Given the description of an element on the screen output the (x, y) to click on. 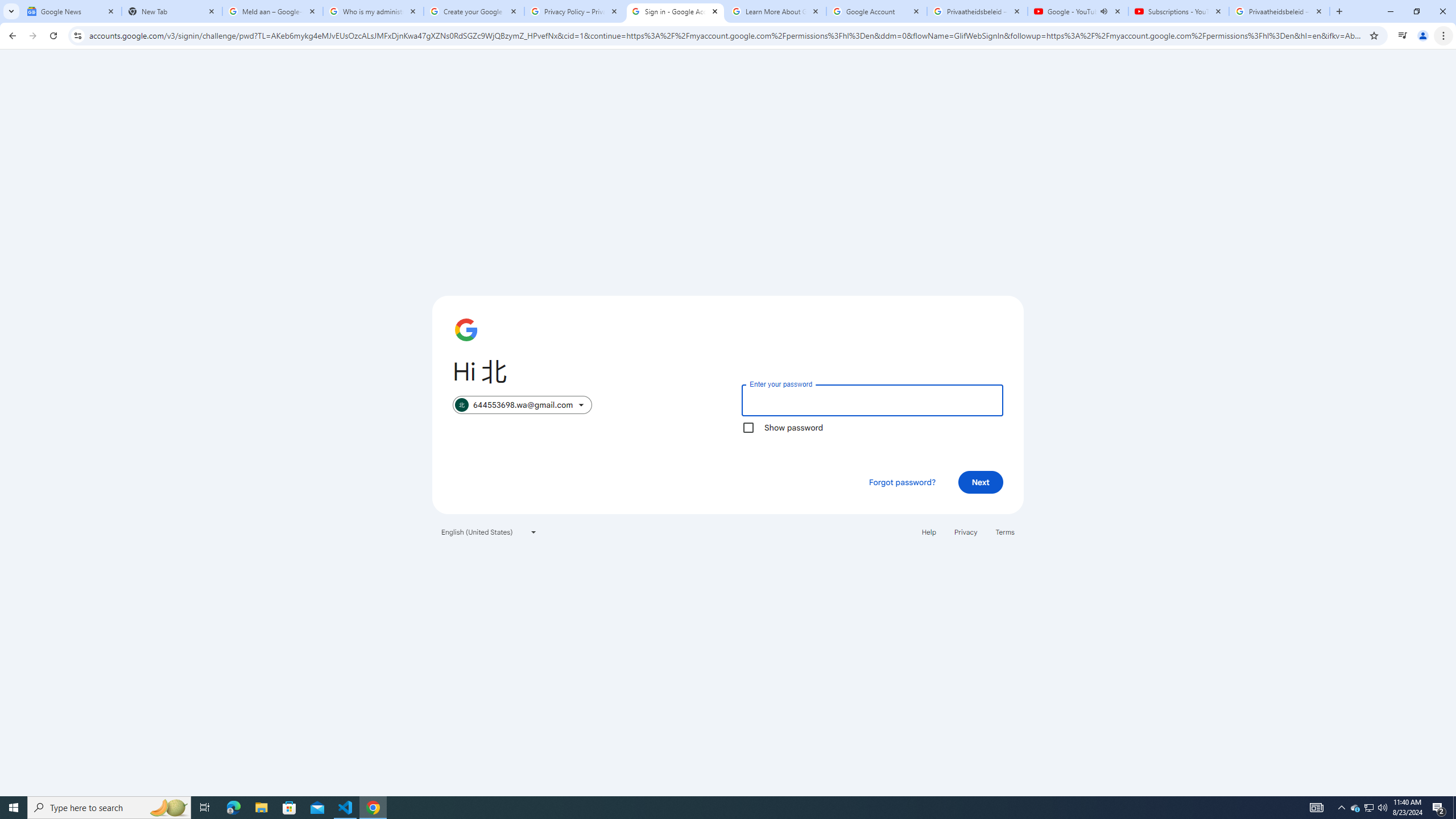
Who is my administrator? - Google Account Help (373, 11)
Google Account (876, 11)
Forgot password? (901, 481)
Create your Google Account (474, 11)
